Given the description of an element on the screen output the (x, y) to click on. 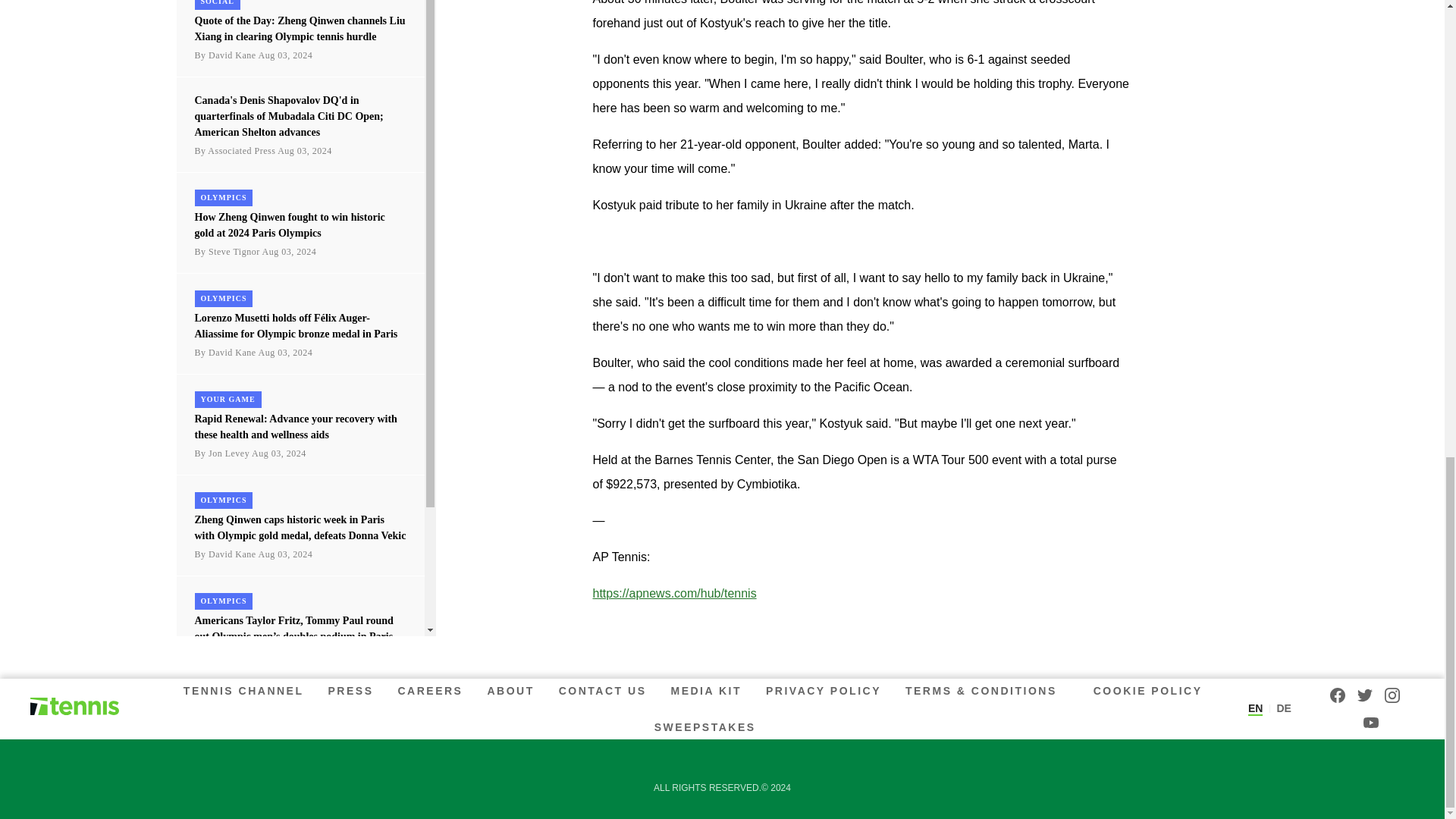
twitter (1364, 695)
instagram (1392, 695)
PRESS (350, 690)
CAREERS (429, 690)
TENNIS CHANNEL (246, 690)
Tennis.com (74, 706)
ABOUT (510, 690)
